Given the description of an element on the screen output the (x, y) to click on. 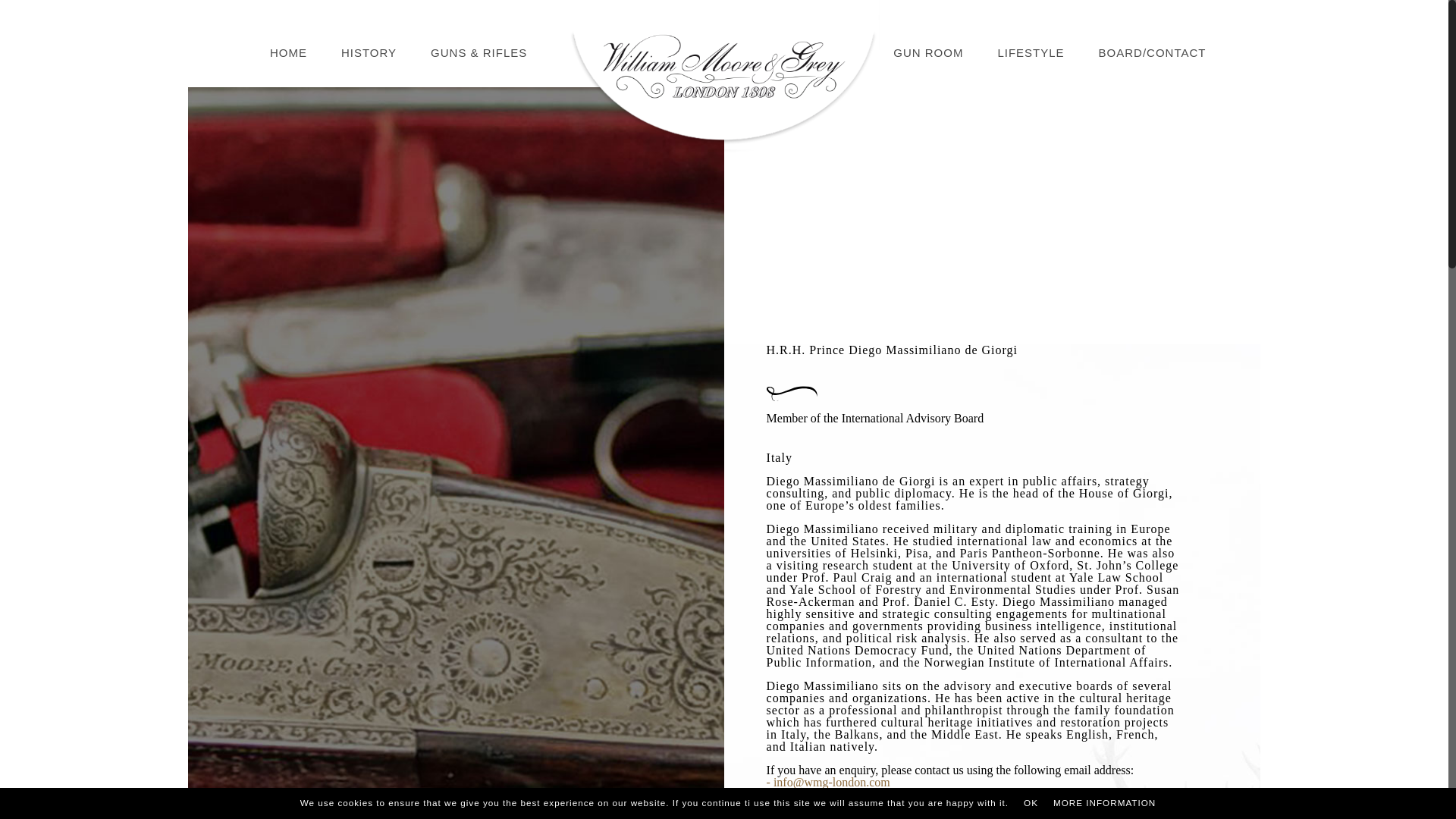
WMG London (724, 82)
HISTORY (369, 52)
OK (1030, 803)
LIFESTYLE (1029, 52)
MORE INFORMATION (1104, 803)
GUN ROOM (927, 52)
HOME (287, 52)
